Given the description of an element on the screen output the (x, y) to click on. 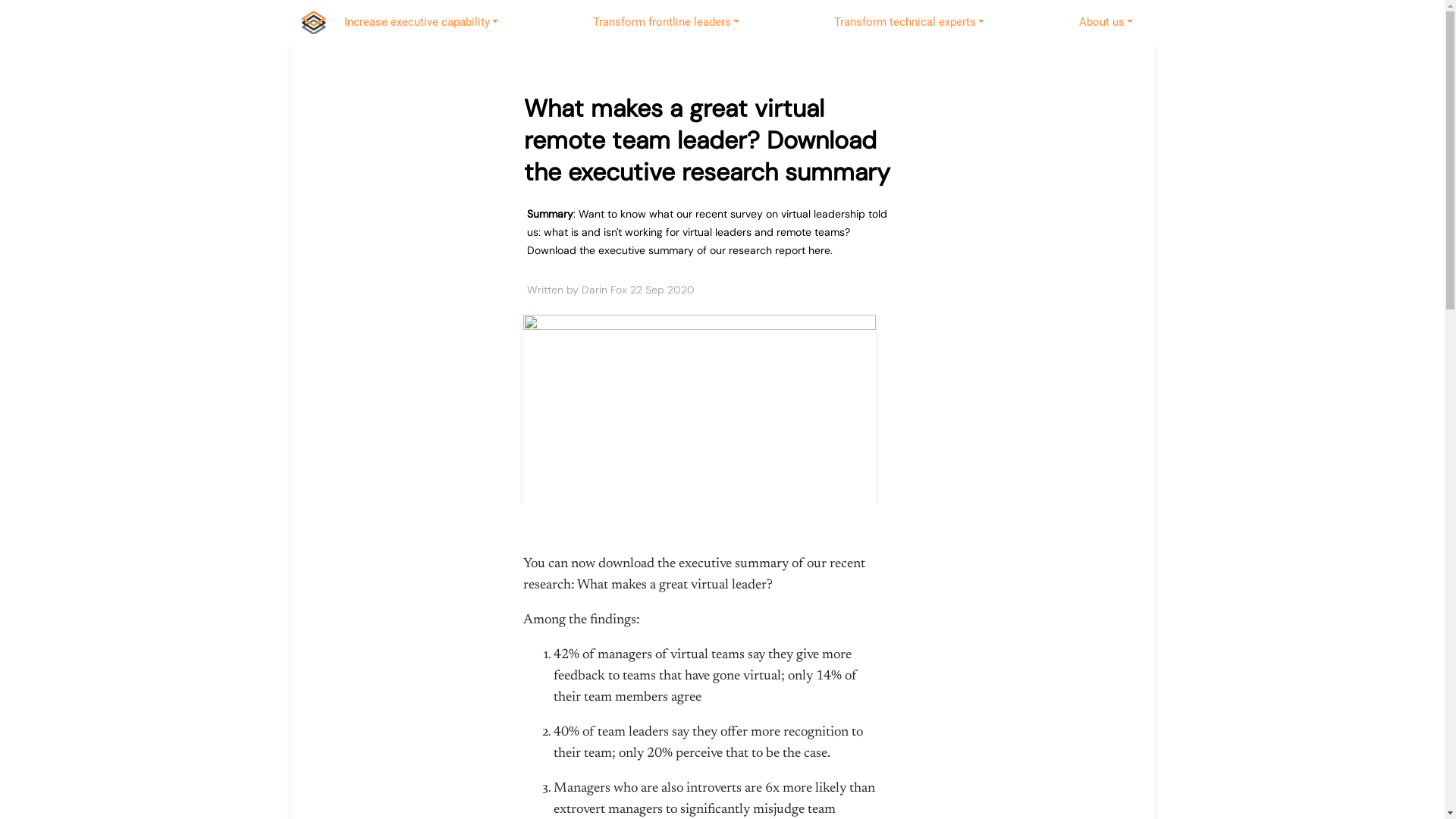
Transform frontline leaders Element type: text (666, 21)
Increase executive capability Element type: text (421, 21)
Transform technical experts Element type: text (909, 21)
About us Element type: text (1106, 21)
